Given the description of an element on the screen output the (x, y) to click on. 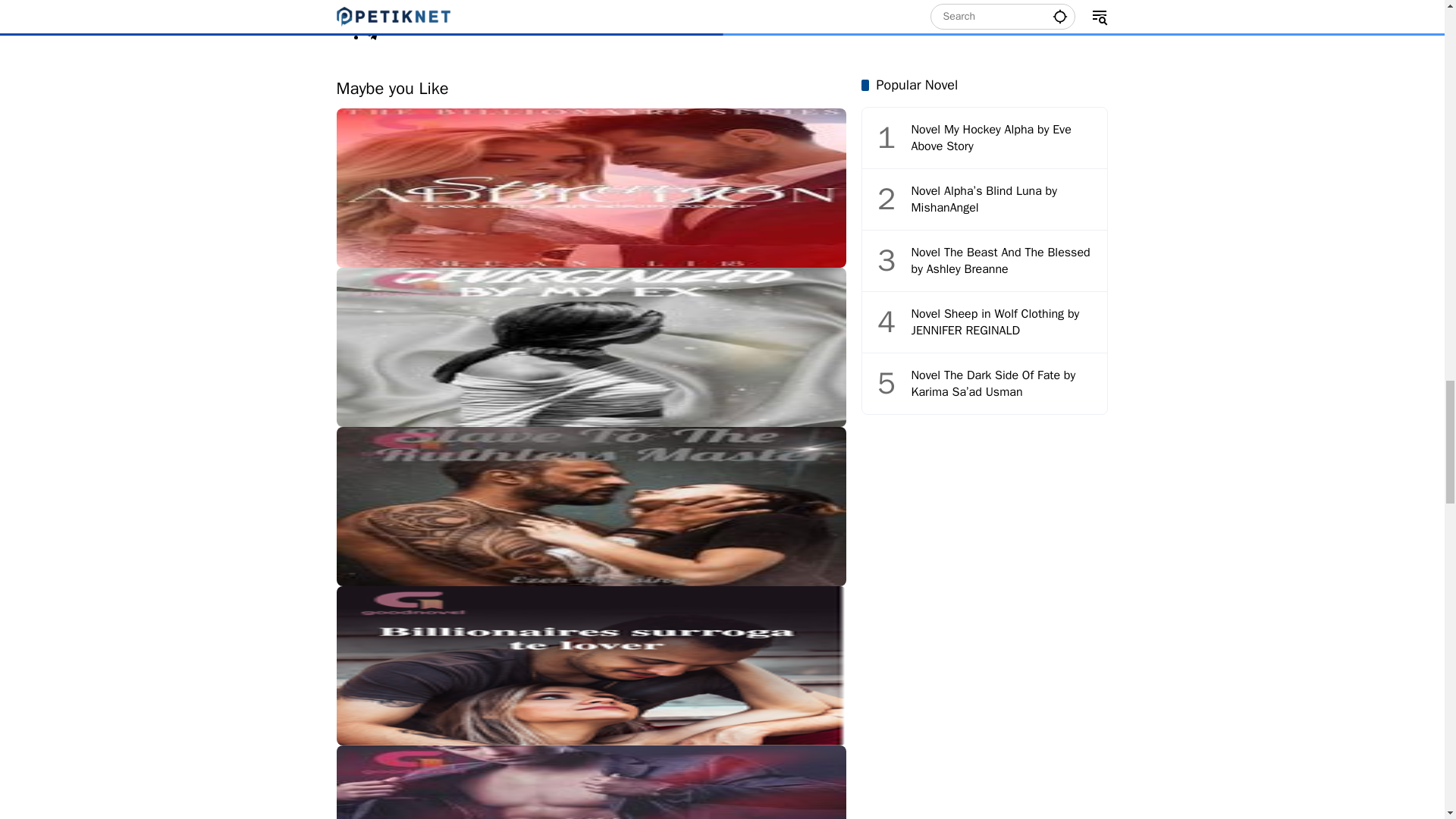
Pin (375, 4)
